Given the description of an element on the screen output the (x, y) to click on. 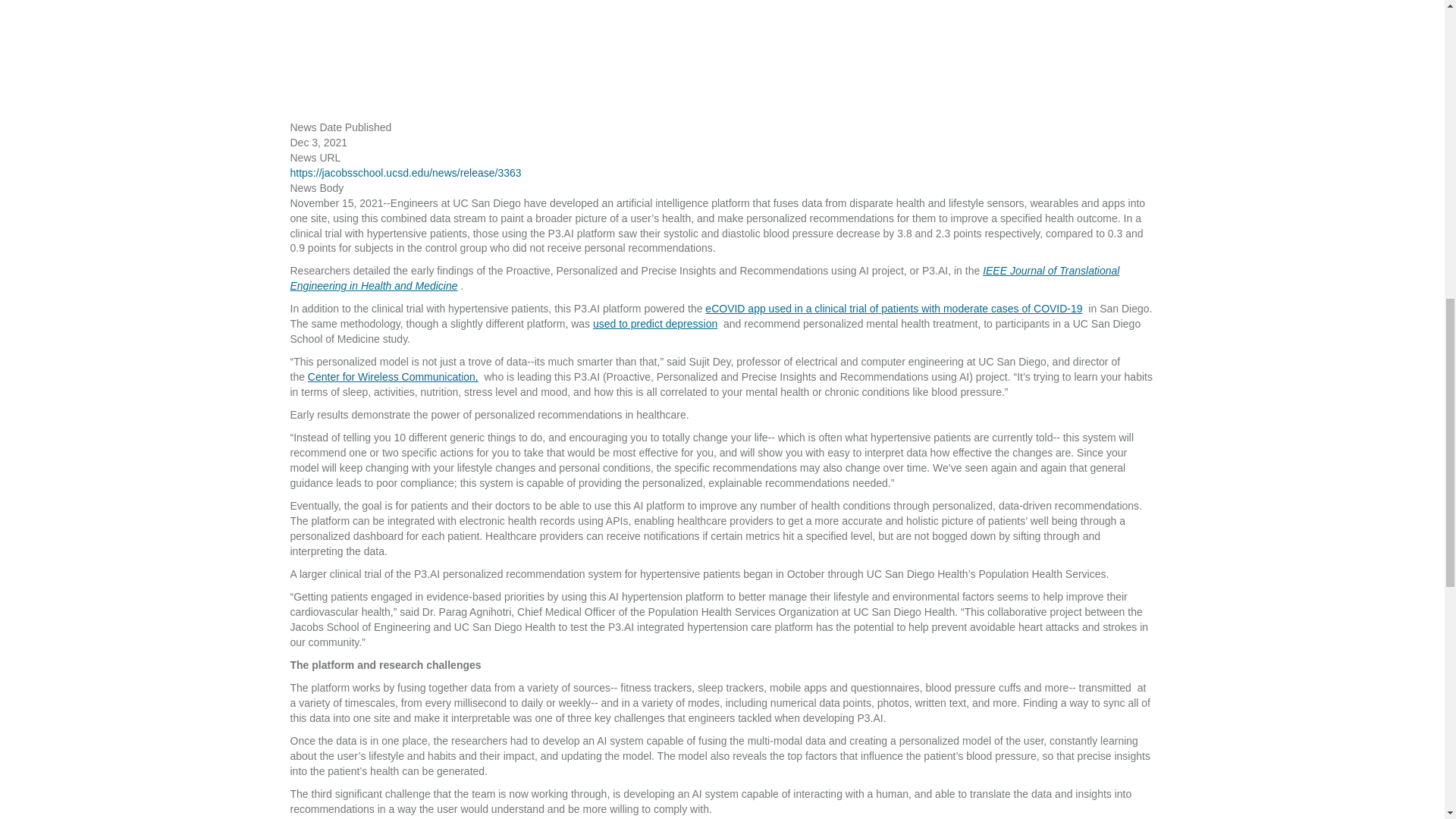
Center for Wireless Communication, (394, 377)
used to predict depression (656, 323)
